Given the description of an element on the screen output the (x, y) to click on. 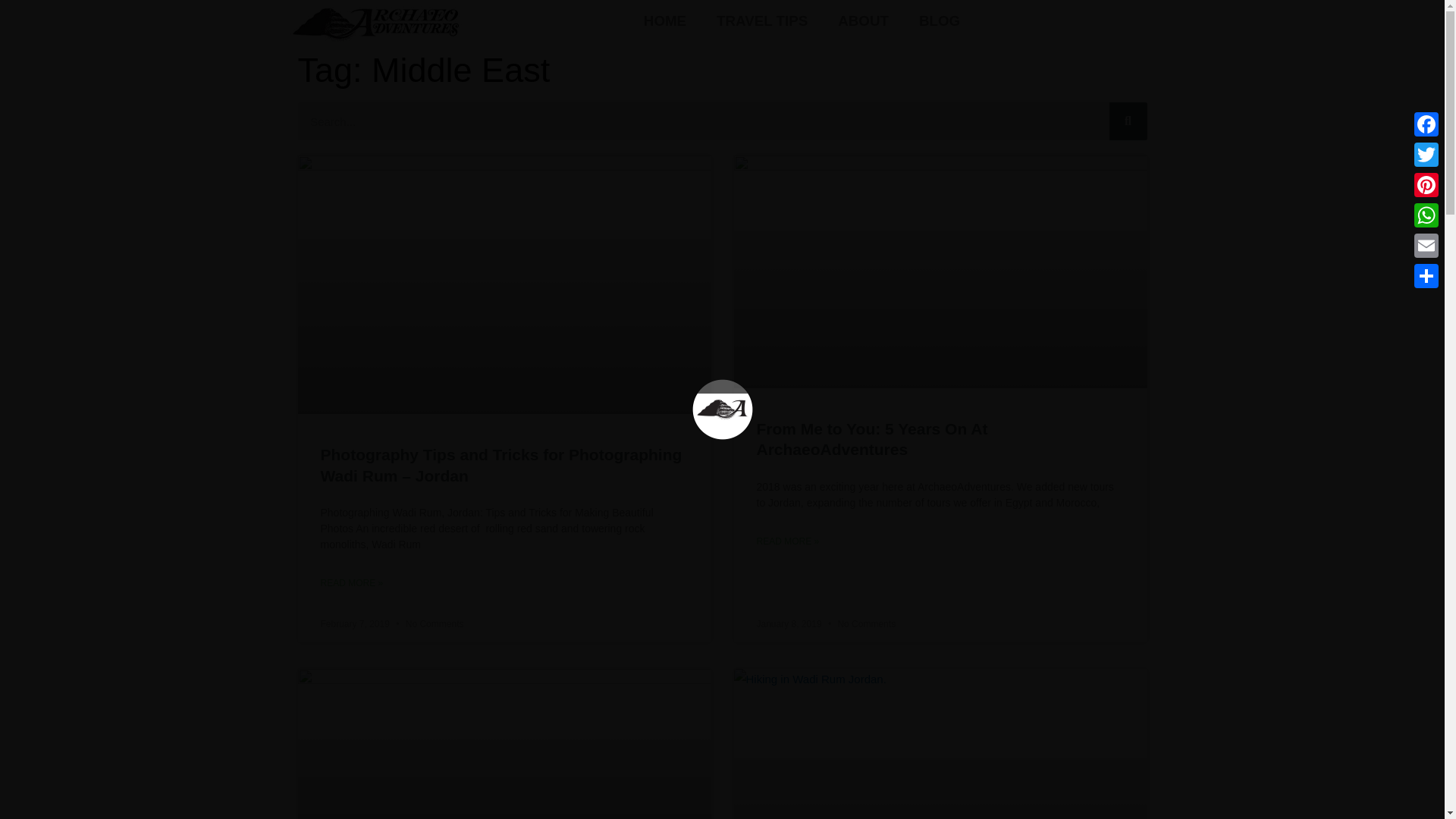
Facebook (1425, 123)
WhatsApp (1425, 214)
BLOG (939, 21)
HOME (664, 21)
TRAVEL TIPS (761, 21)
Search (702, 121)
From Me to You: 5 Years On At ArchaeoAdventures (872, 438)
Search (1127, 121)
Twitter (1425, 154)
Email (1425, 245)
